Given the description of an element on the screen output the (x, y) to click on. 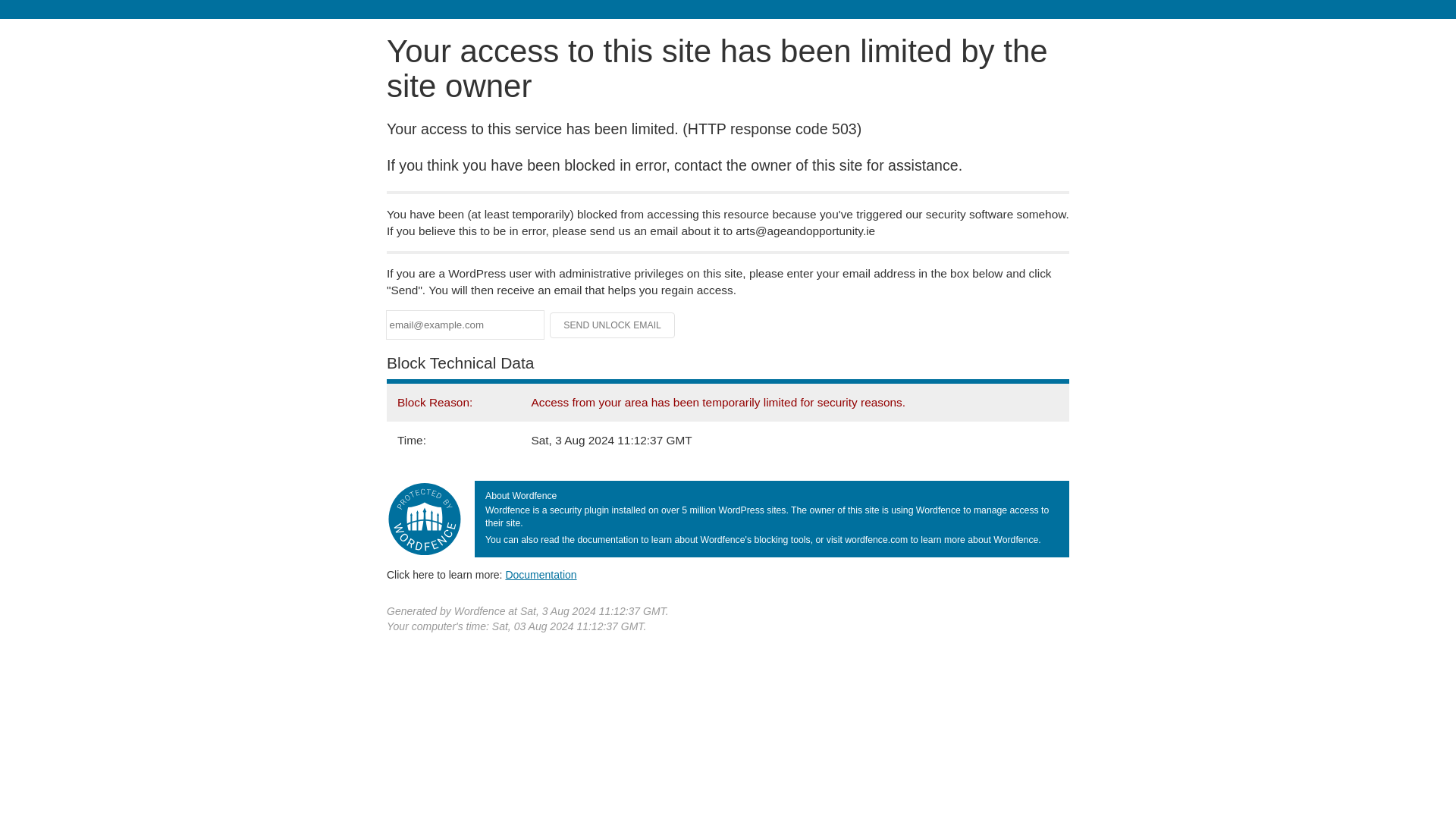
Documentation (540, 574)
Send Unlock Email (612, 325)
Send Unlock Email (612, 325)
